Given the description of an element on the screen output the (x, y) to click on. 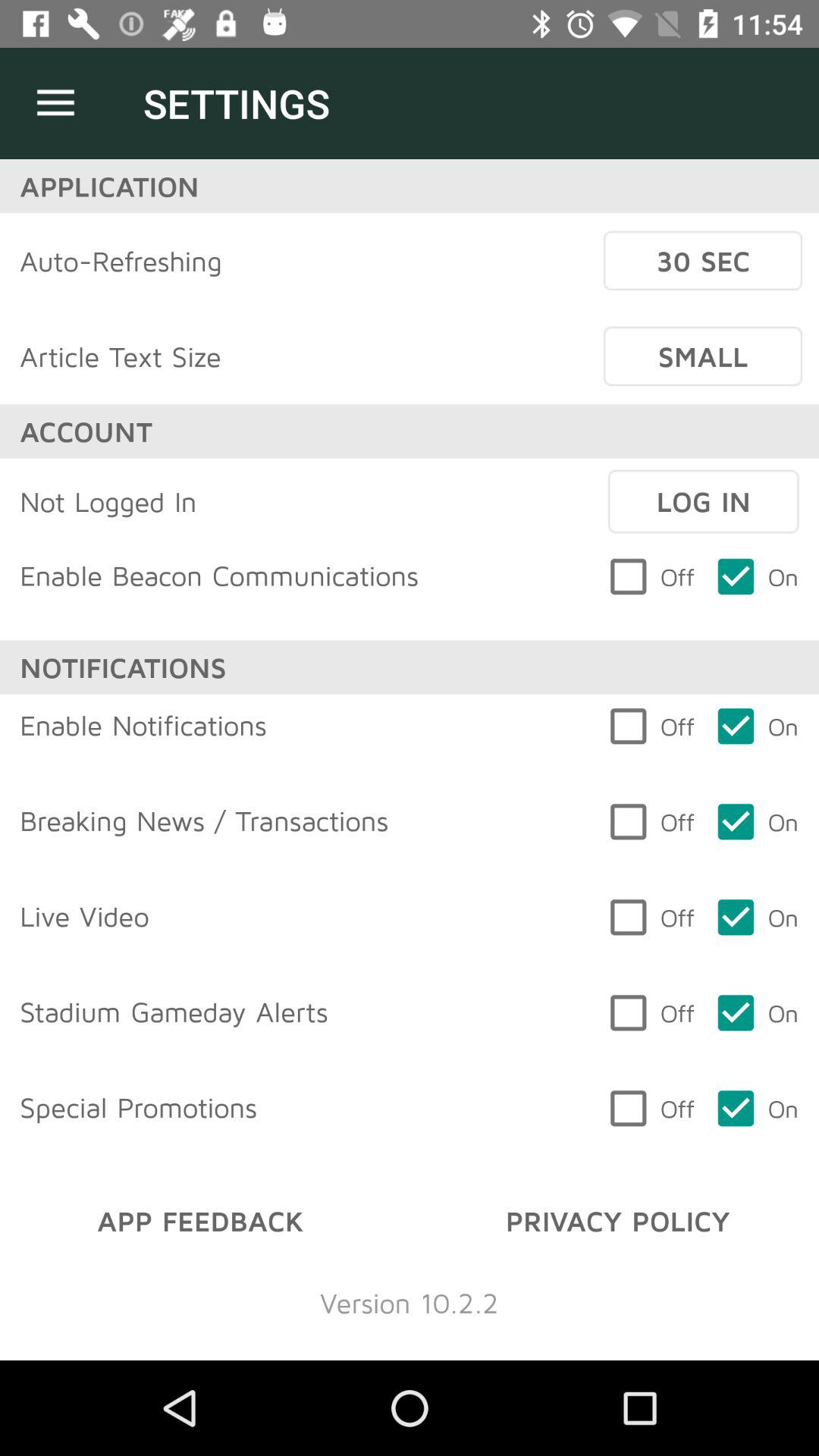
click the icon below app feedback (409, 1302)
